Given the description of an element on the screen output the (x, y) to click on. 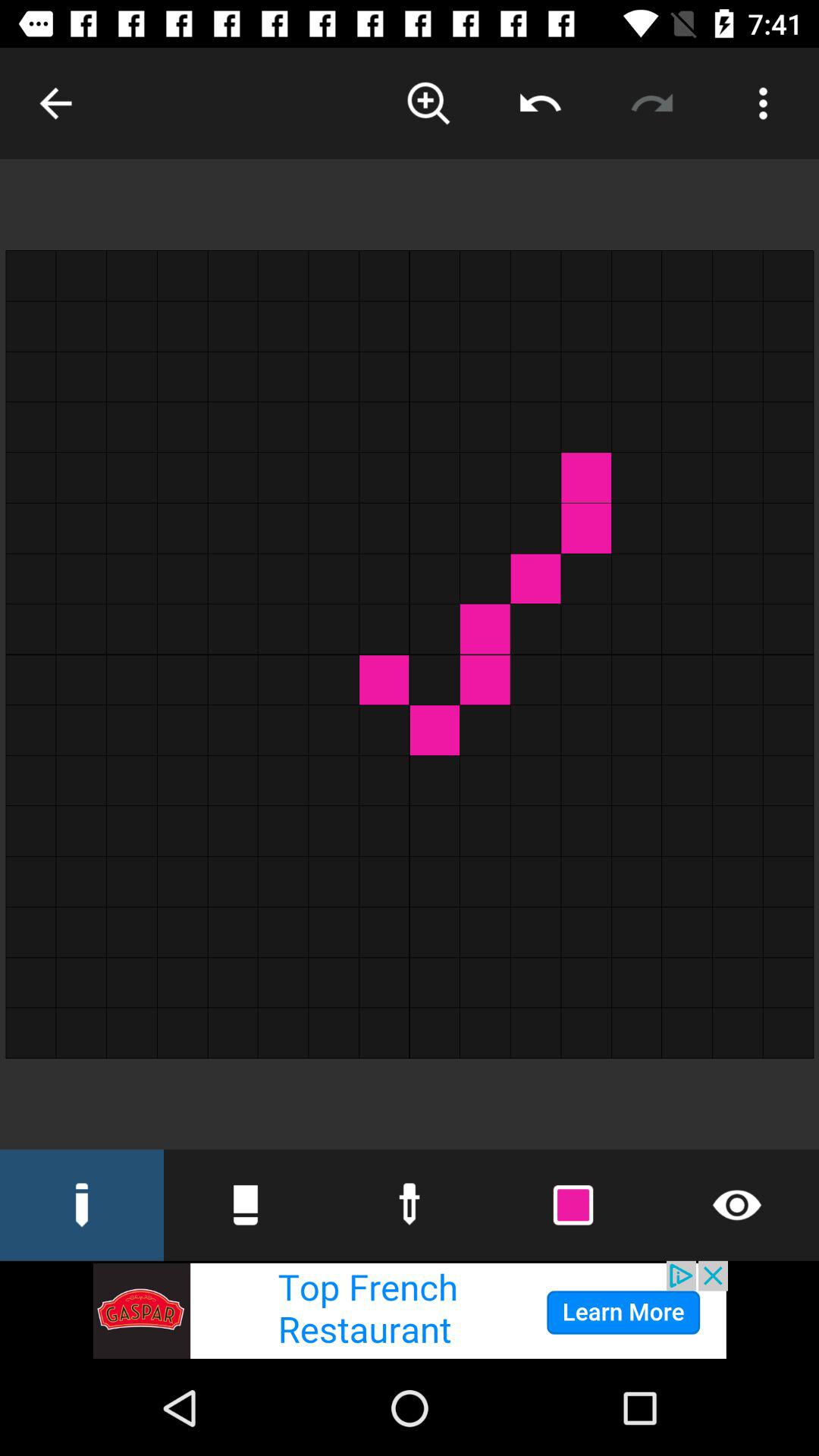
edit options of the app (763, 103)
